Given the description of an element on the screen output the (x, y) to click on. 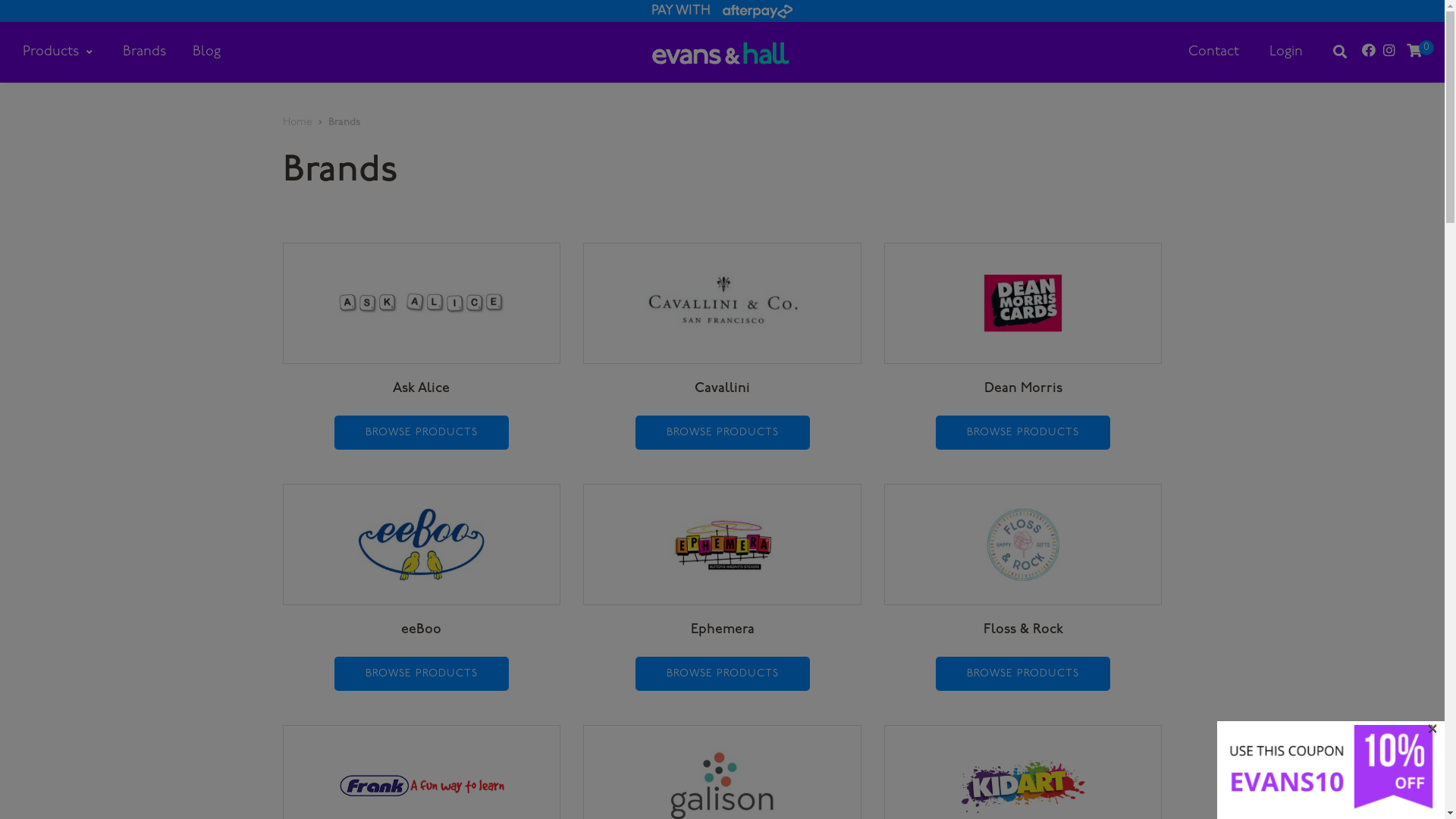
BROWSE PRODUCTS Element type: text (722, 673)
BROWSE PRODUCTS Element type: text (1022, 673)
Skip to primary navigation Element type: text (0, 0)
BROWSE PRODUCTS Element type: text (722, 432)
BROWSE PRODUCTS Element type: text (421, 432)
Products Element type: text (57, 51)
Brands Element type: text (144, 51)
Home Element type: text (296, 122)
0 Element type: text (1413, 51)
Login Element type: text (1285, 51)
BROWSE PRODUCTS Element type: text (1022, 432)
Contact Element type: text (1213, 51)
BROWSE PRODUCTS Element type: text (421, 673)
Blog Element type: text (206, 51)
